Given the description of an element on the screen output the (x, y) to click on. 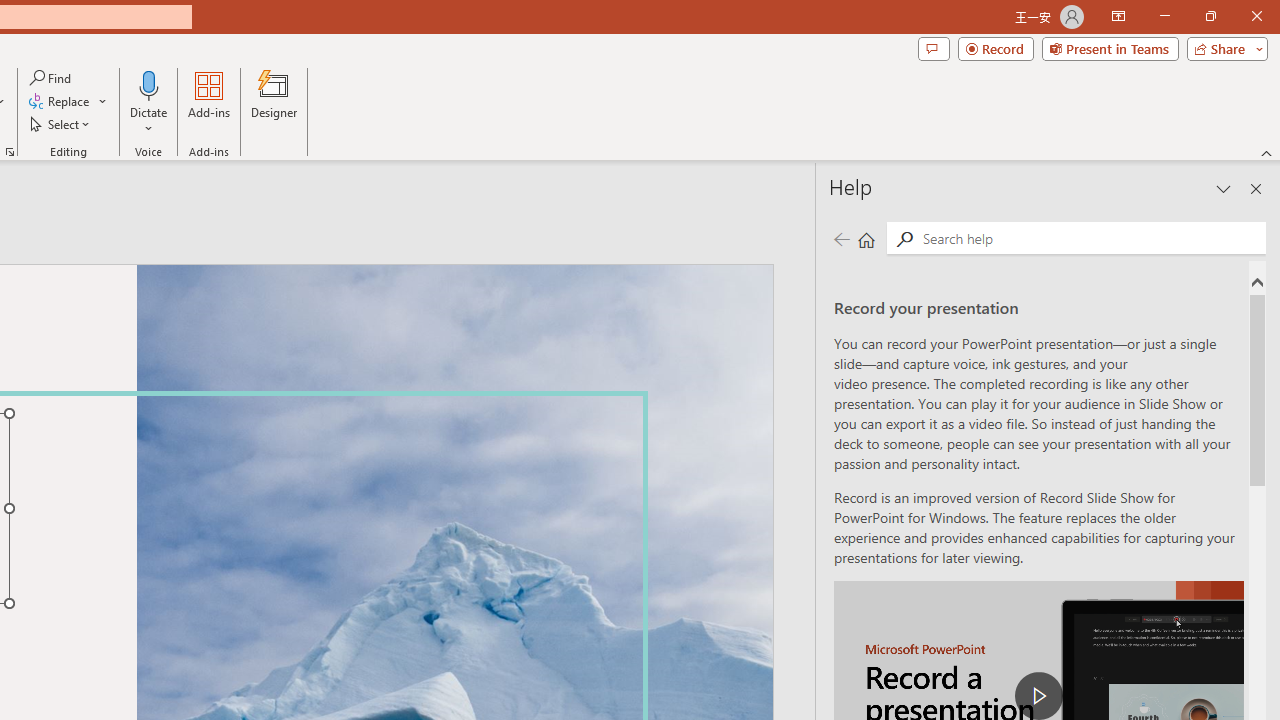
Previous page (841, 238)
